Given the description of an element on the screen output the (x, y) to click on. 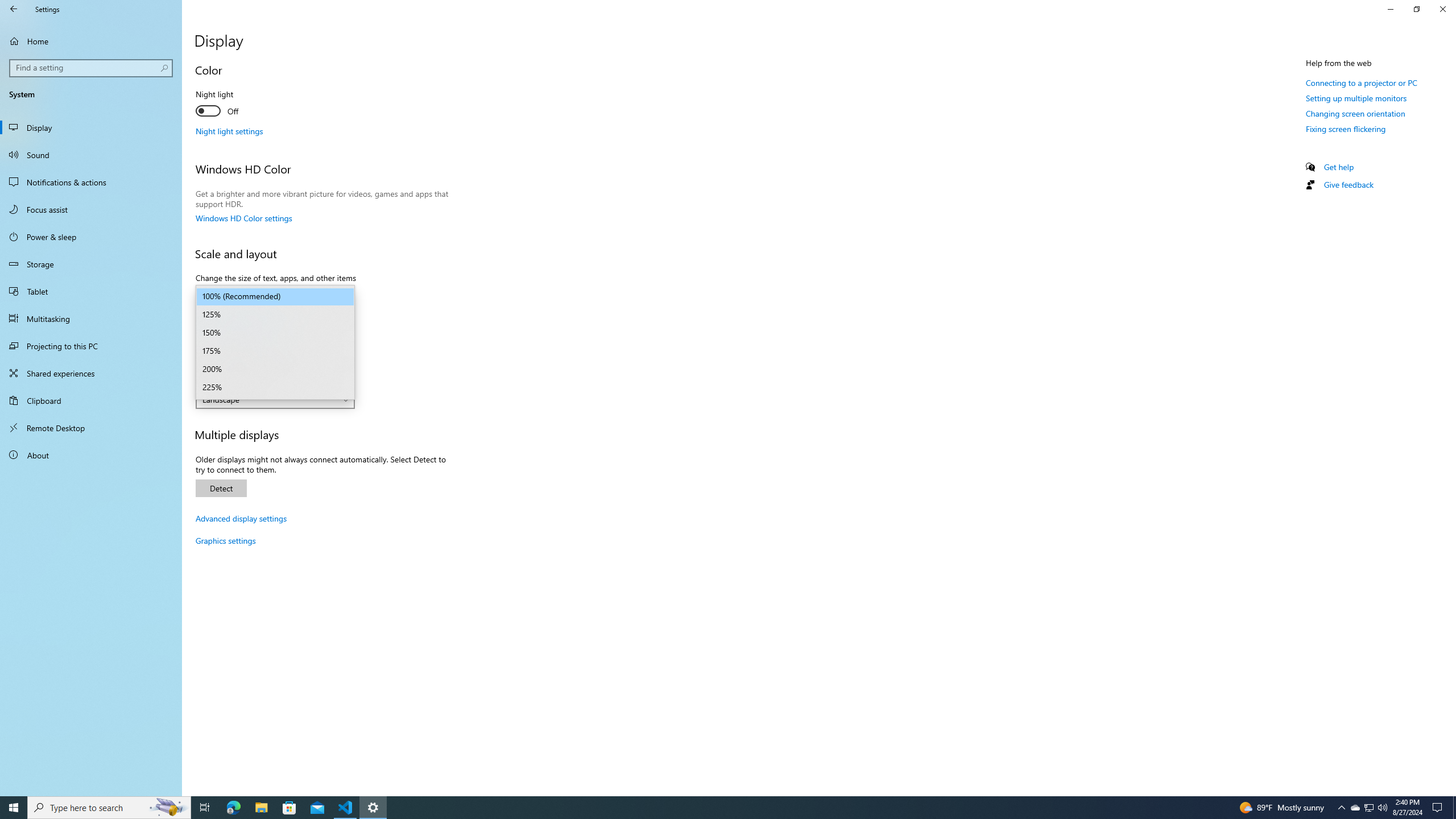
Display orientation (275, 399)
200% (274, 369)
Minimize Settings (1390, 9)
Power & sleep (91, 236)
225% (274, 387)
Home (91, 40)
Get help (1338, 166)
Storage (91, 263)
Focus assist (91, 208)
150% (274, 333)
Projecting to this PC (91, 345)
Advanced display settings (240, 518)
